Given the description of an element on the screen output the (x, y) to click on. 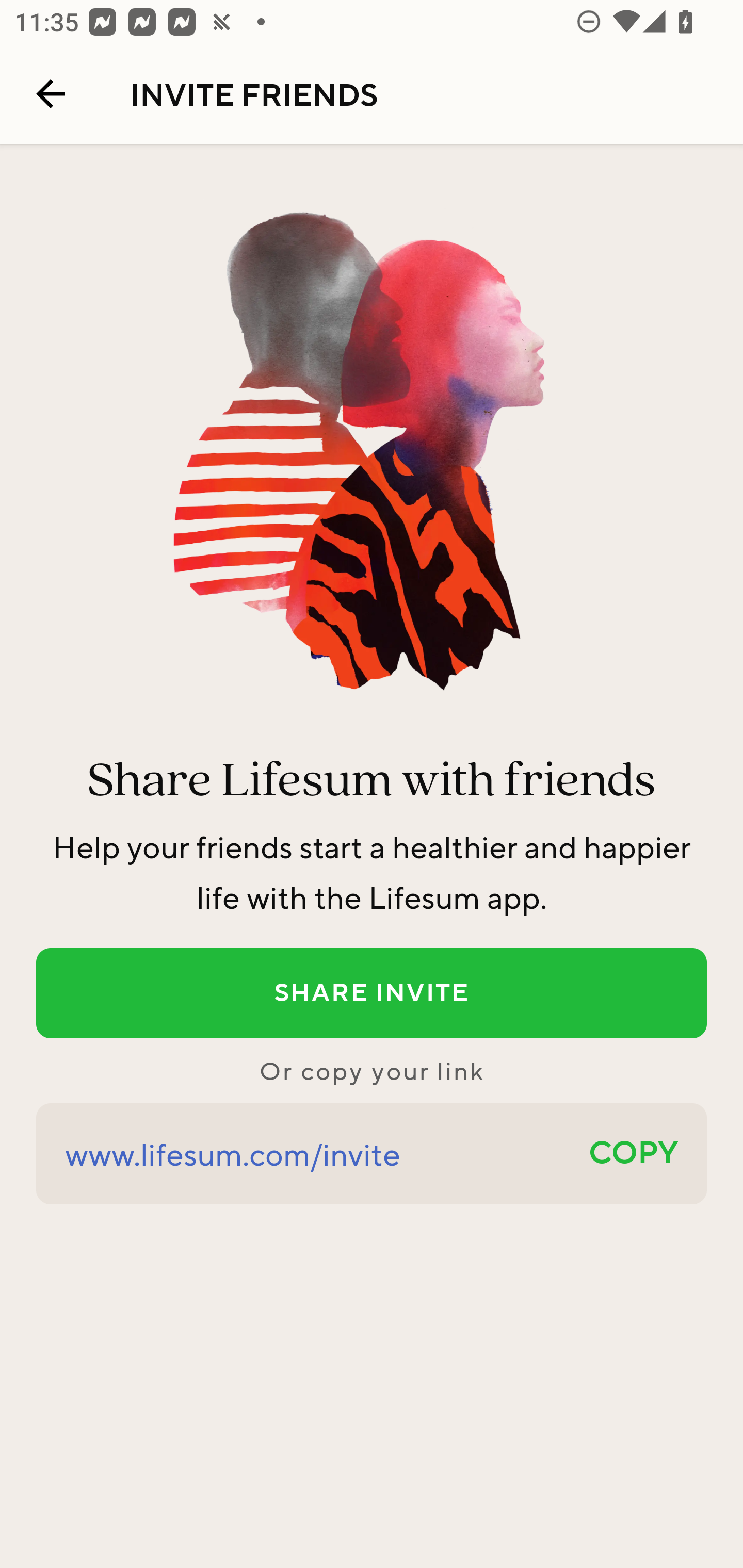
Navigate up (50, 93)
SHARE INVITE (371, 993)
COPY (633, 1153)
